Given the description of an element on the screen output the (x, y) to click on. 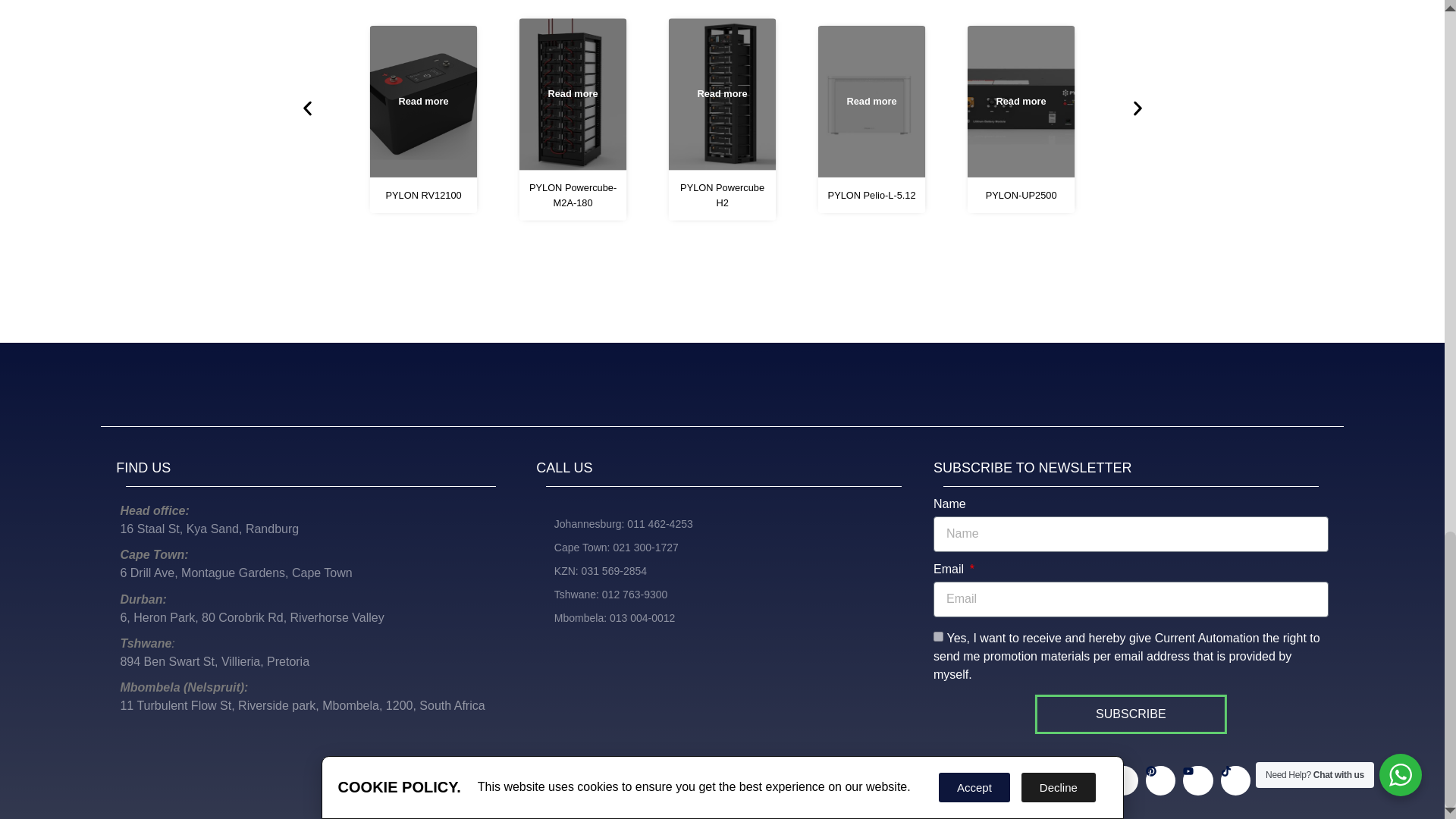
on (938, 636)
